Given the description of an element on the screen output the (x, y) to click on. 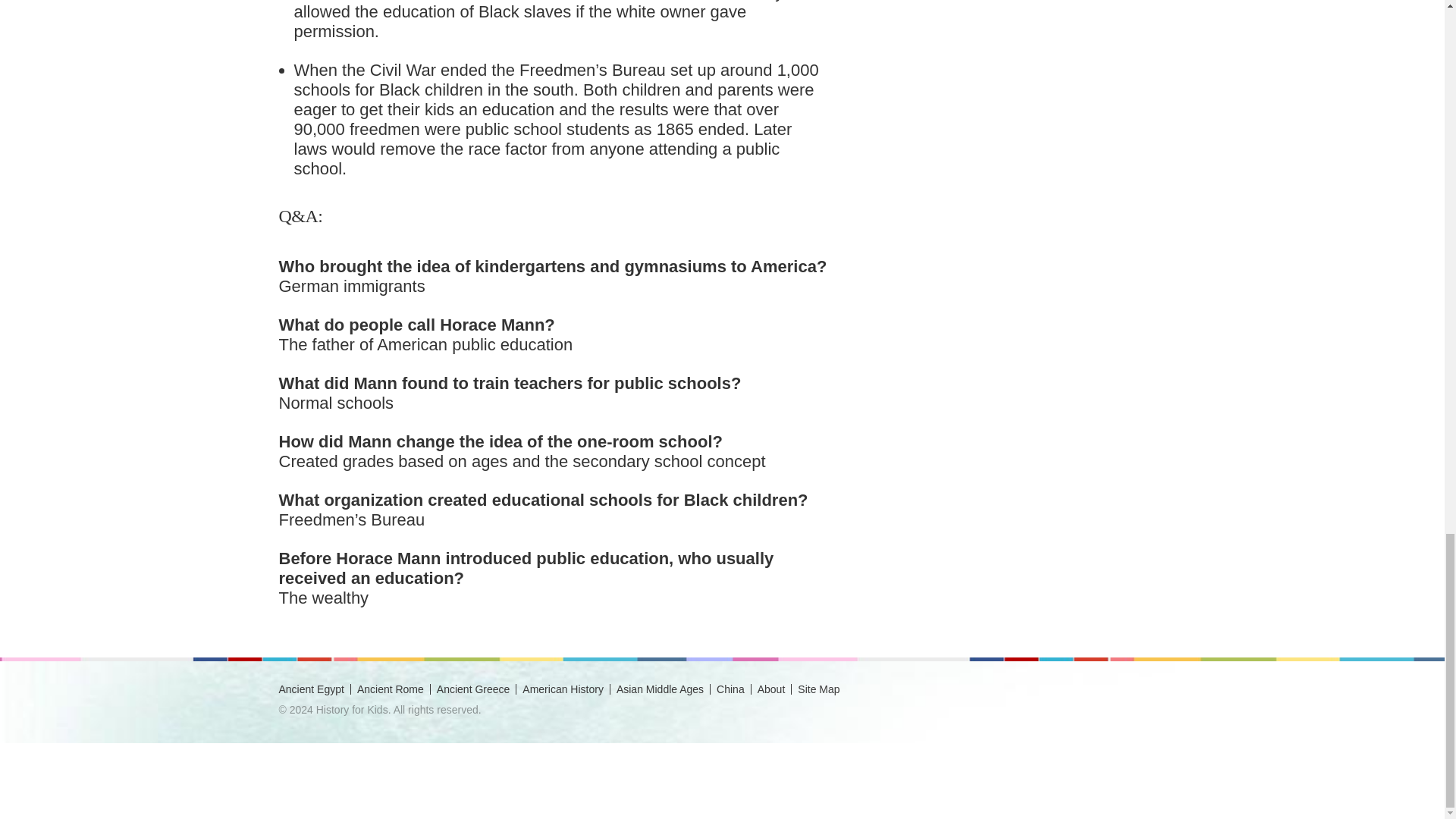
Asian Middle Ages (659, 689)
Ancient Egypt (311, 689)
About (771, 689)
China (730, 689)
American History (563, 689)
Ancient Rome (389, 689)
Site Map (818, 689)
Ancient Greece (473, 689)
